Given the description of an element on the screen output the (x, y) to click on. 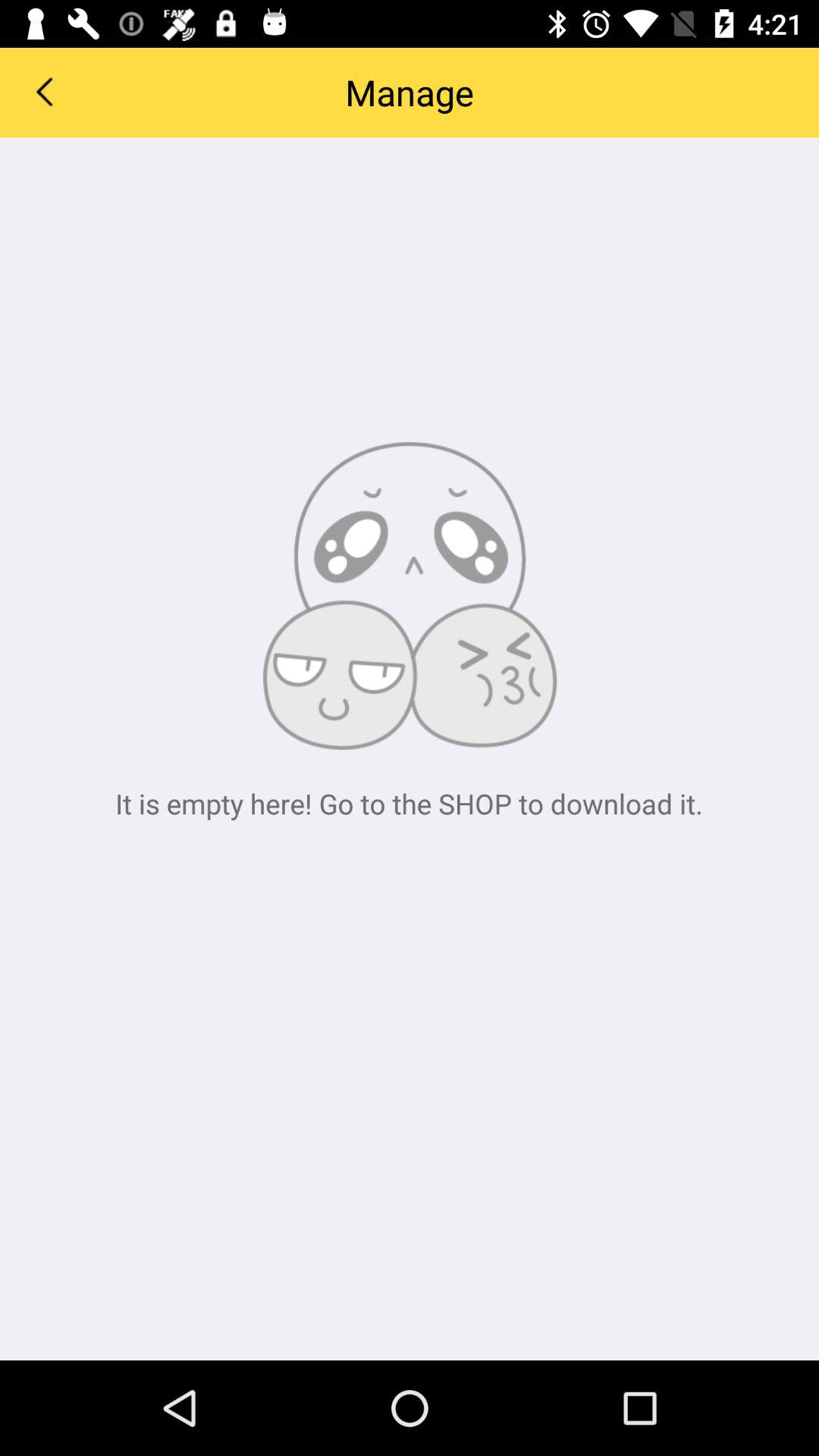
select app next to the manage item (43, 91)
